Given the description of an element on the screen output the (x, y) to click on. 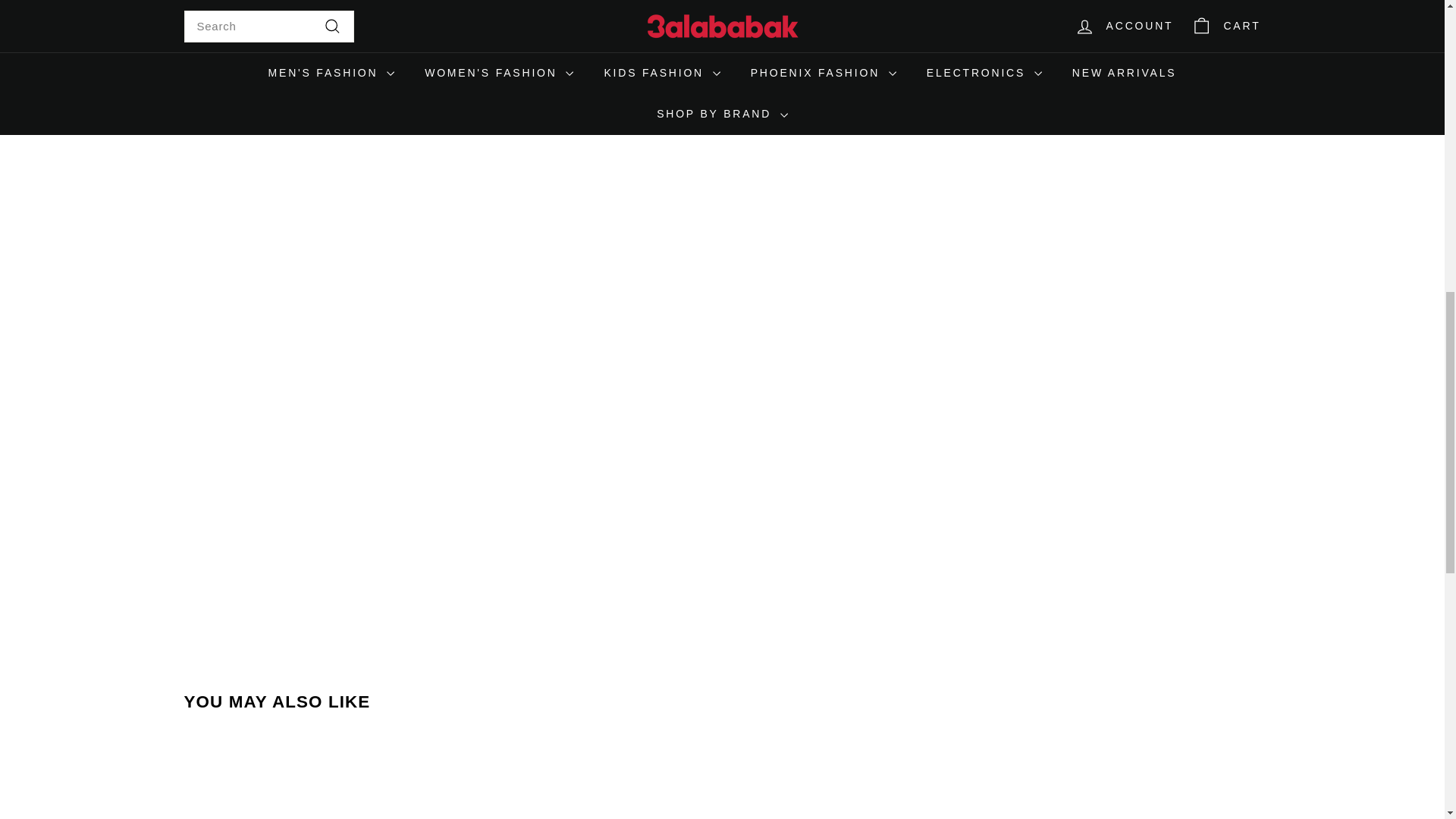
Casio (304, 57)
